Given the description of an element on the screen output the (x, y) to click on. 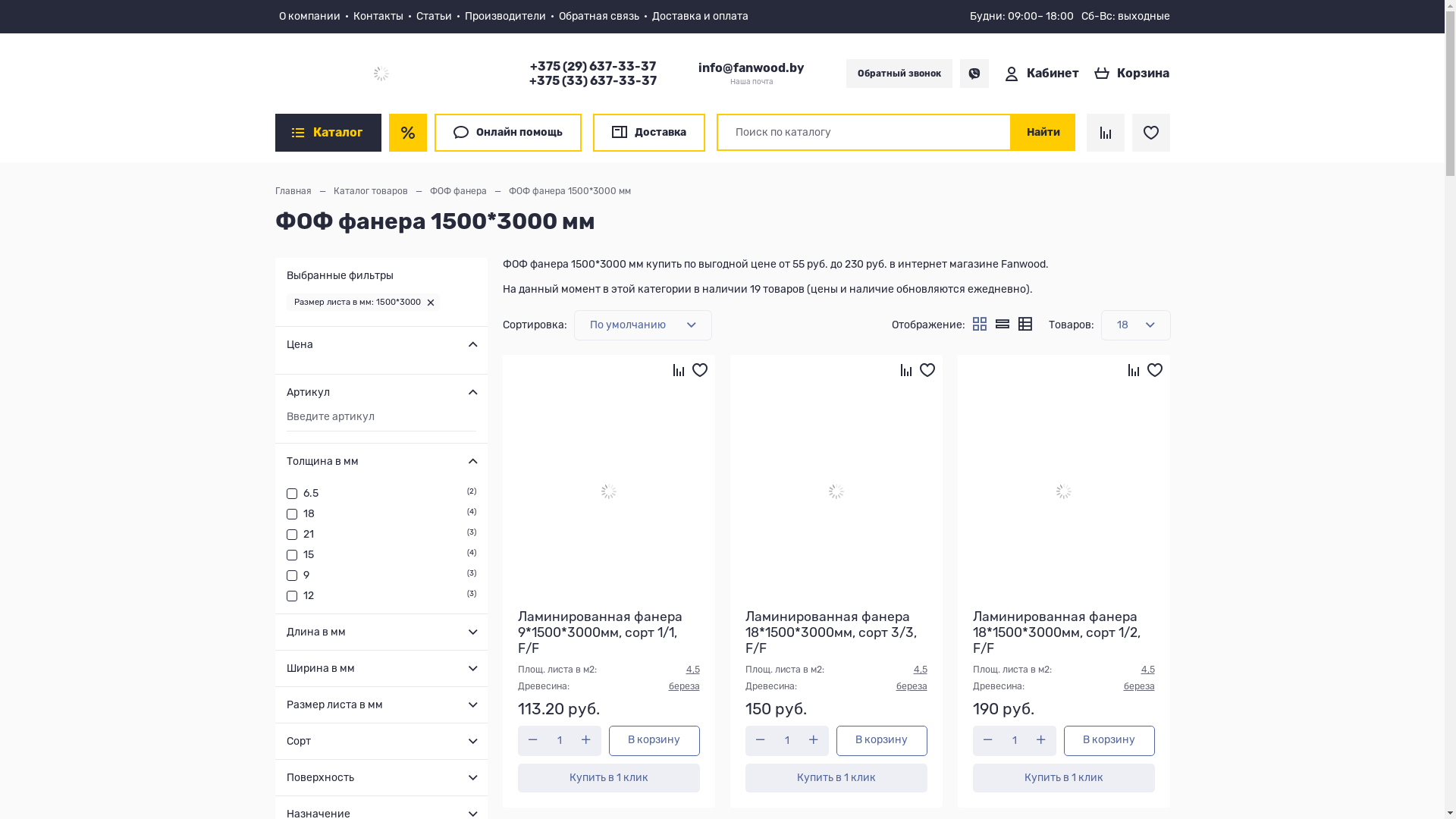
[email protected] Element type: text (42, 214)
+375 (33) 637-33-37 Element type: text (50, 169)
+375 (29) 637-33-37 Element type: text (50, 157)
